Given the description of an element on the screen output the (x, y) to click on. 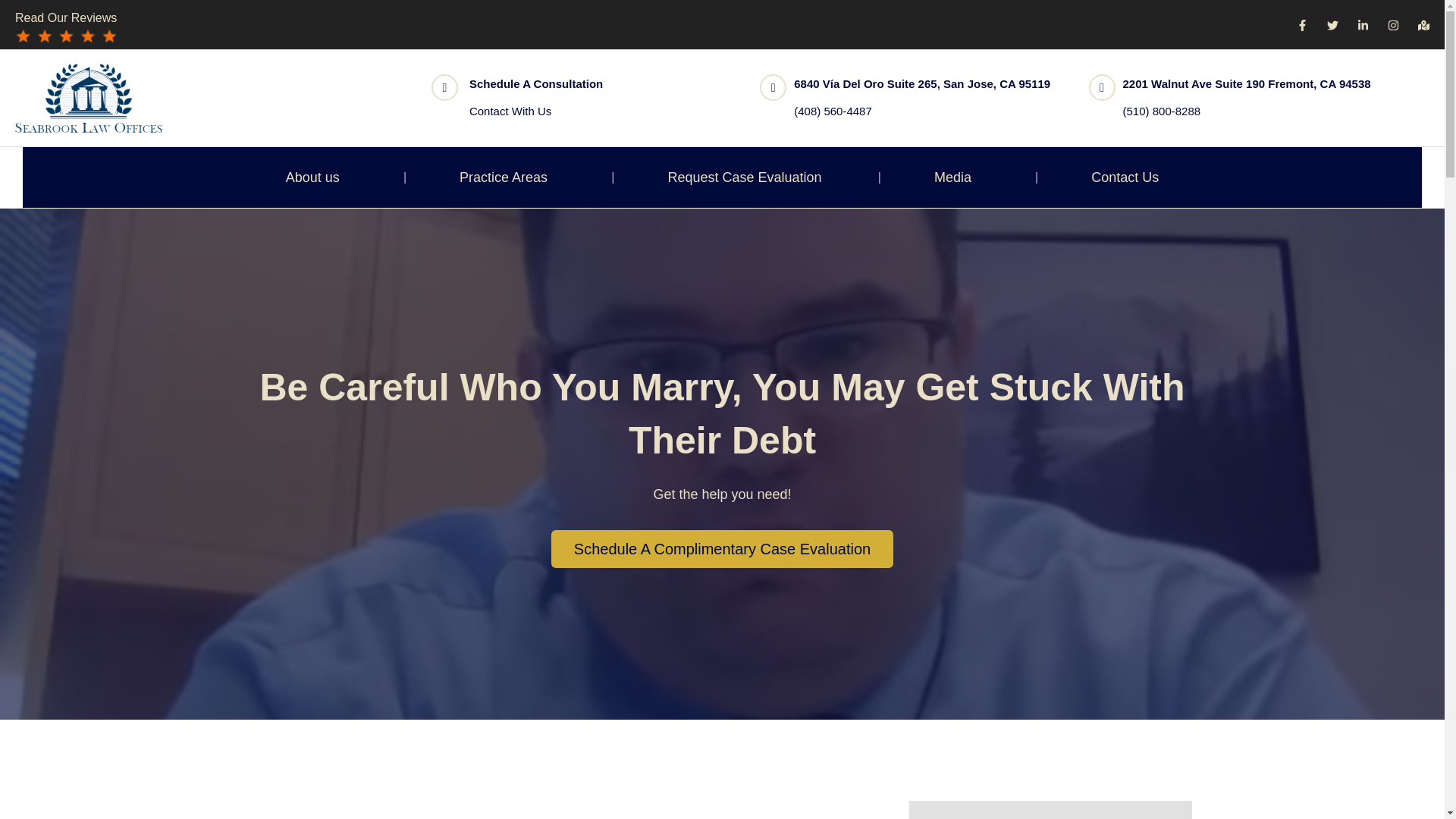
About us (315, 177)
Schedule A Consultation (535, 83)
2201 Walnut Ave Suite 190 Fremont, CA 94538 (1246, 83)
Practice Areas (507, 177)
YouTube video player (557, 809)
Read Our Reviews (65, 17)
